Given the description of an element on the screen output the (x, y) to click on. 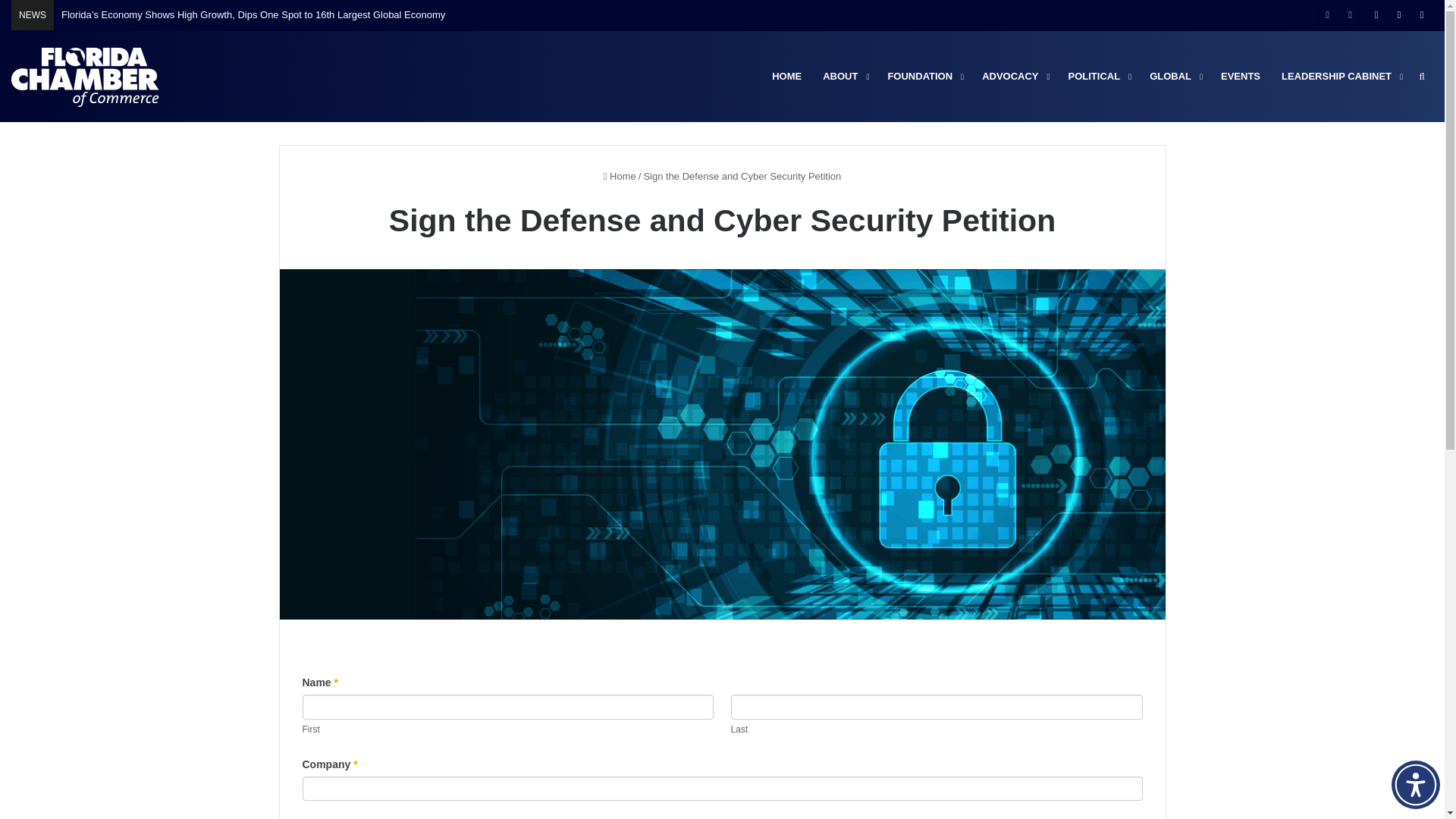
Florida Chamber of Commerce (87, 76)
Accessibility Menu (1415, 784)
FOUNDATION (923, 76)
ADVOCACY (1014, 76)
